Given the description of an element on the screen output the (x, y) to click on. 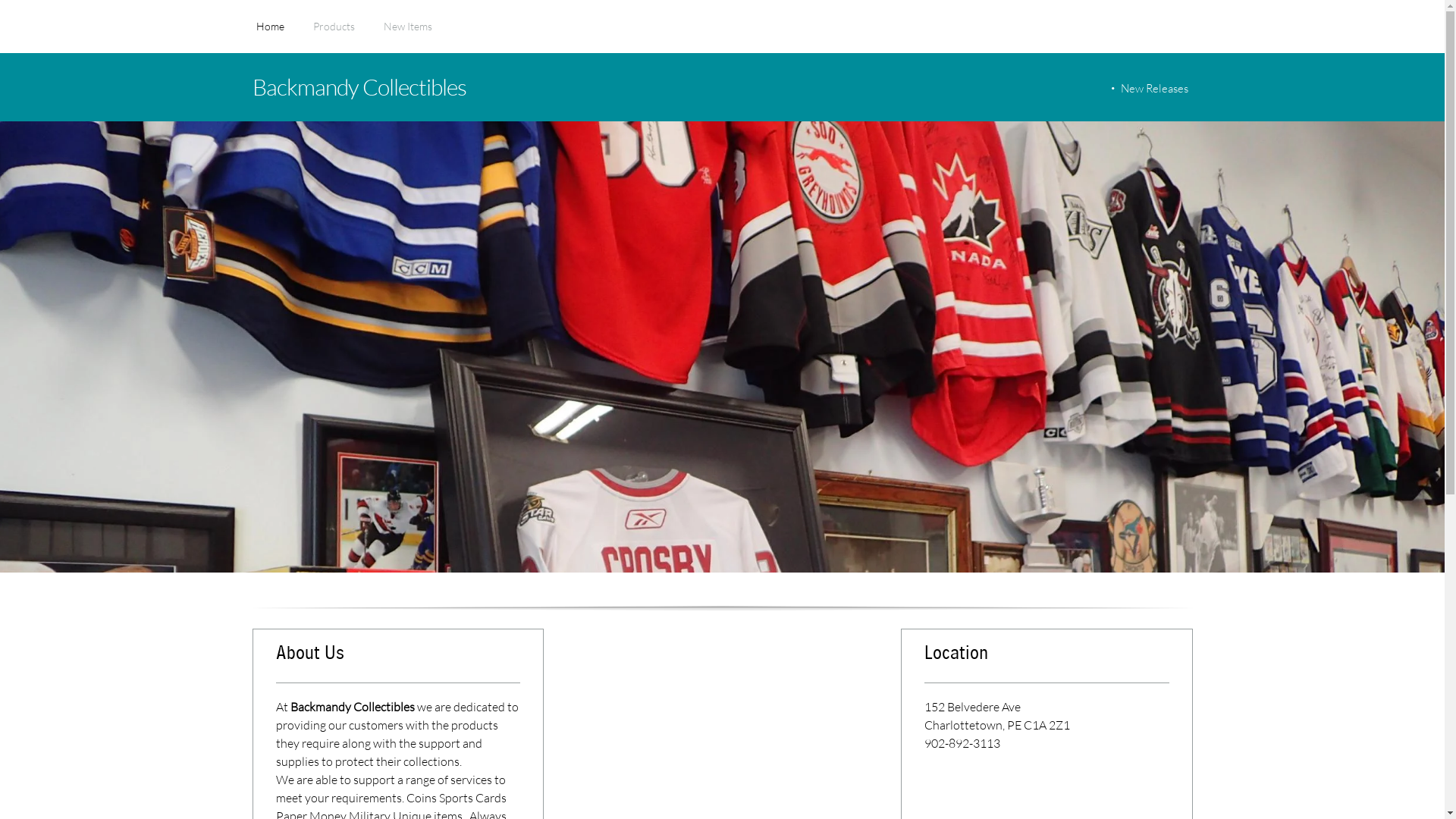
Home Element type: text (270, 34)
Backmandy Collectibles Element type: text (593, 86)
Location Element type: text (1046, 660)
About Us Element type: text (398, 660)
Products Element type: text (333, 34)
New Items Element type: text (407, 34)
New Releases Element type: text (1151, 88)
